Given the description of an element on the screen output the (x, y) to click on. 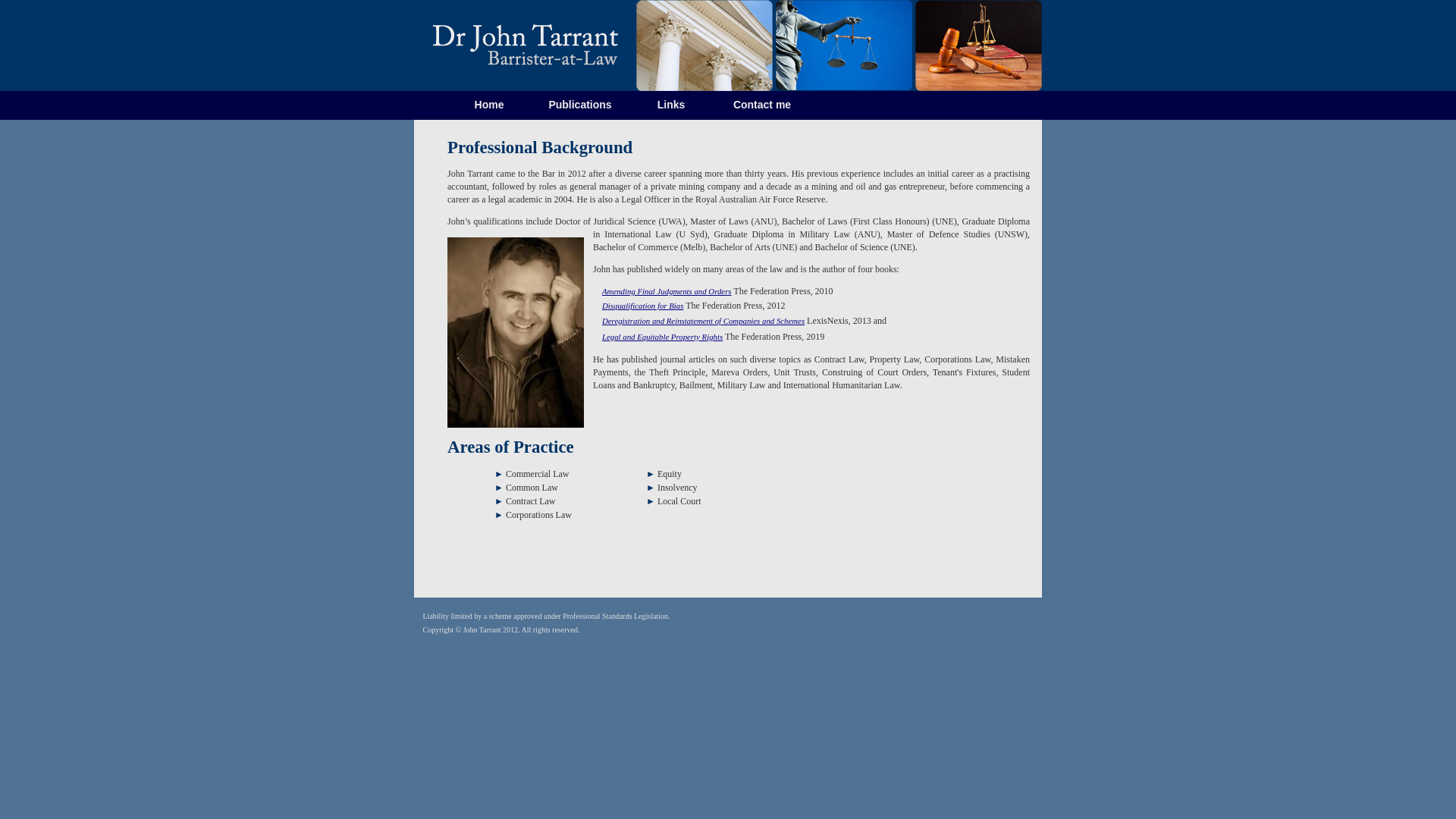
Amending Final Judgments and Orders Element type: text (666, 290)
Links Element type: text (670, 104)
Publications Element type: text (579, 104)
Deregistration and Reinstatement of Companies and Schemes Element type: text (703, 320)
Disqualification for Bias Element type: text (642, 305)
Home Element type: text (488, 104)
Legal and Equitable Property Rights Element type: text (662, 336)
Contact me Element type: text (761, 104)
